Given the description of an element on the screen output the (x, y) to click on. 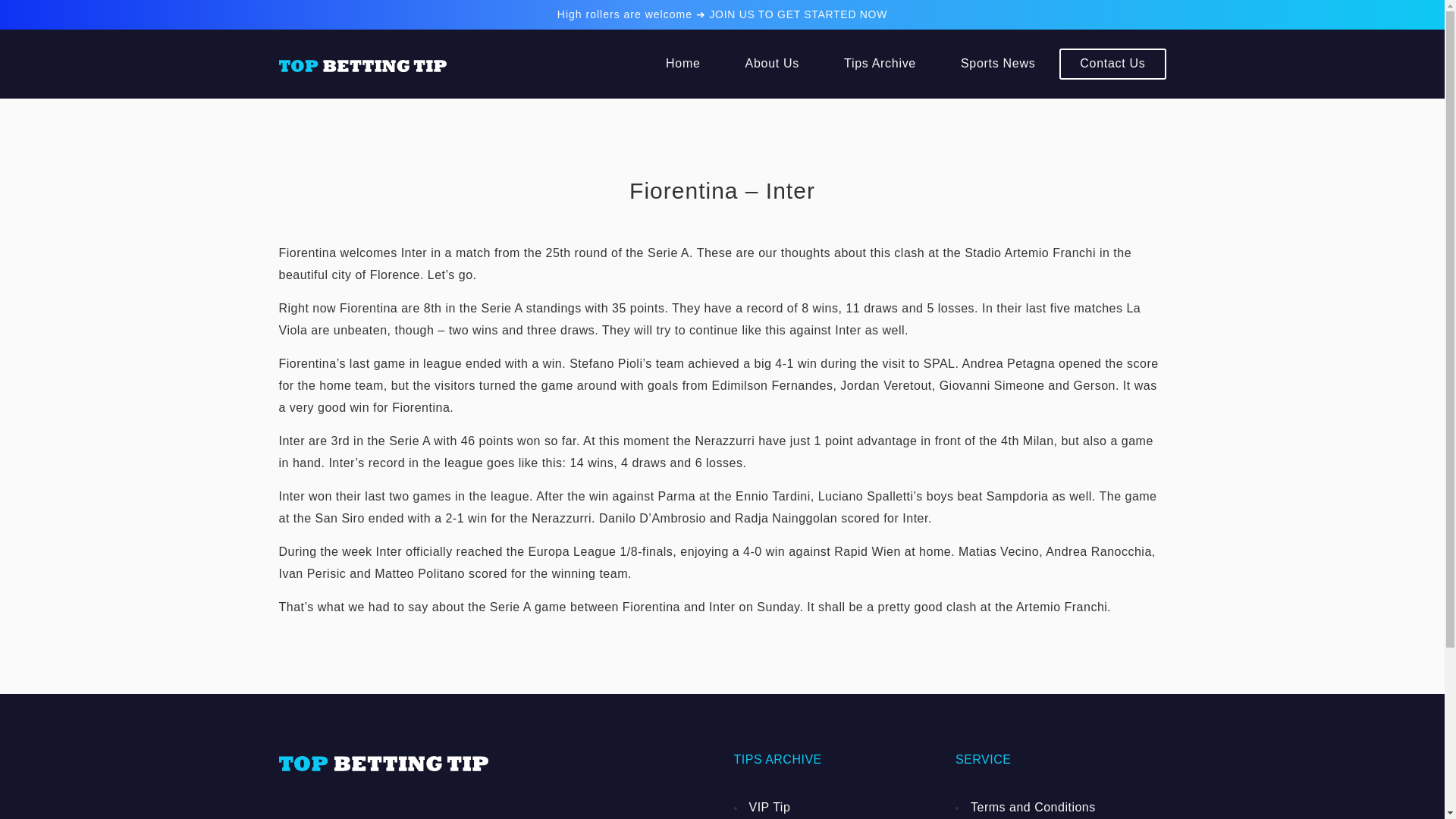
About Us (772, 63)
JOIN US TO GET STARTED NOW (797, 14)
Contact Us (1112, 63)
Home (682, 63)
VIP Tip (838, 807)
Terms and Conditions (1060, 807)
Sports News (998, 63)
Tips Archive (879, 63)
